Given the description of an element on the screen output the (x, y) to click on. 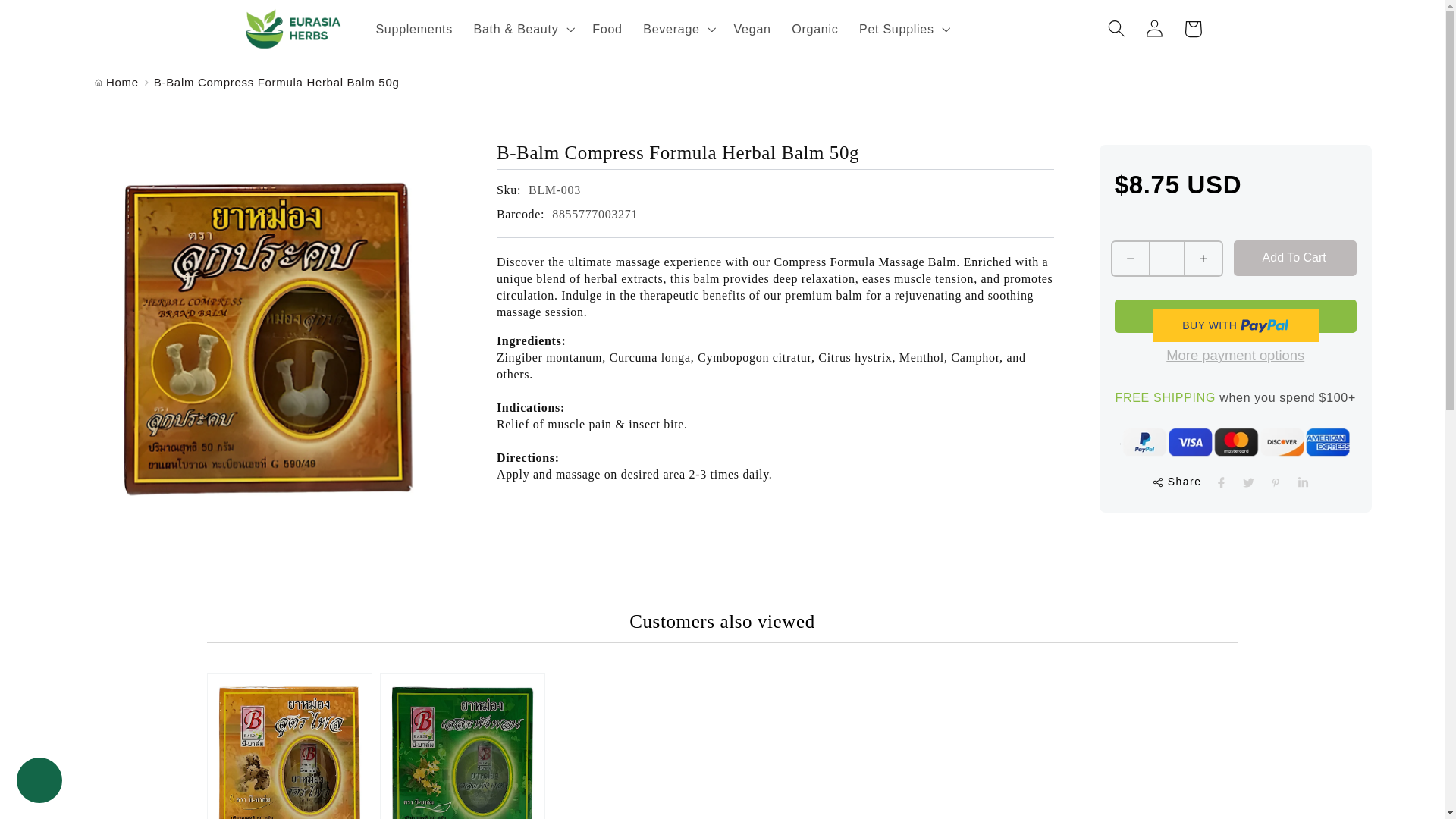
Vegan (752, 28)
B-Balm Compress Formula Herbal Balm 50g (775, 153)
Supplements (414, 28)
B-Balm Saled-Pangpon Formula Herbal Balm 50g (462, 746)
Food (605, 28)
Shopify online store chat (38, 781)
Organic (814, 28)
B-Balm Plai Formula Herbal Massage Balm 50g (288, 746)
Skip to content (52, 20)
